Given the description of an element on the screen output the (x, y) to click on. 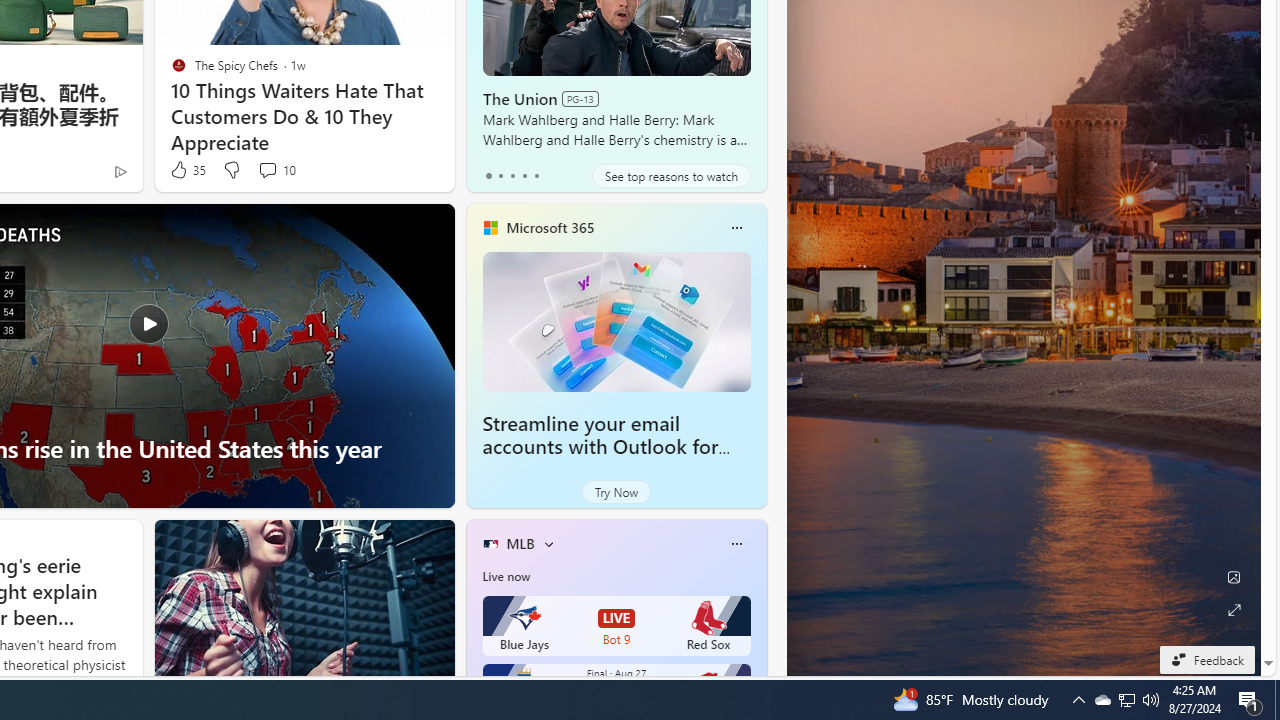
Expand background (1233, 610)
Blue Jays LIVE Bot 9 Red Sox (616, 625)
tab-0 (488, 175)
tab-4 (535, 175)
See top reasons to watch (671, 175)
tab-2 (511, 175)
Streamline your email accounts with Outlook for Windows (616, 321)
Edit Background (1233, 577)
View comments 10 Comment (276, 170)
tab-3 (524, 175)
Streamline your email accounts with Outlook for Windows (600, 446)
tab-1 (500, 175)
35 Like (186, 170)
